Given the description of an element on the screen output the (x, y) to click on. 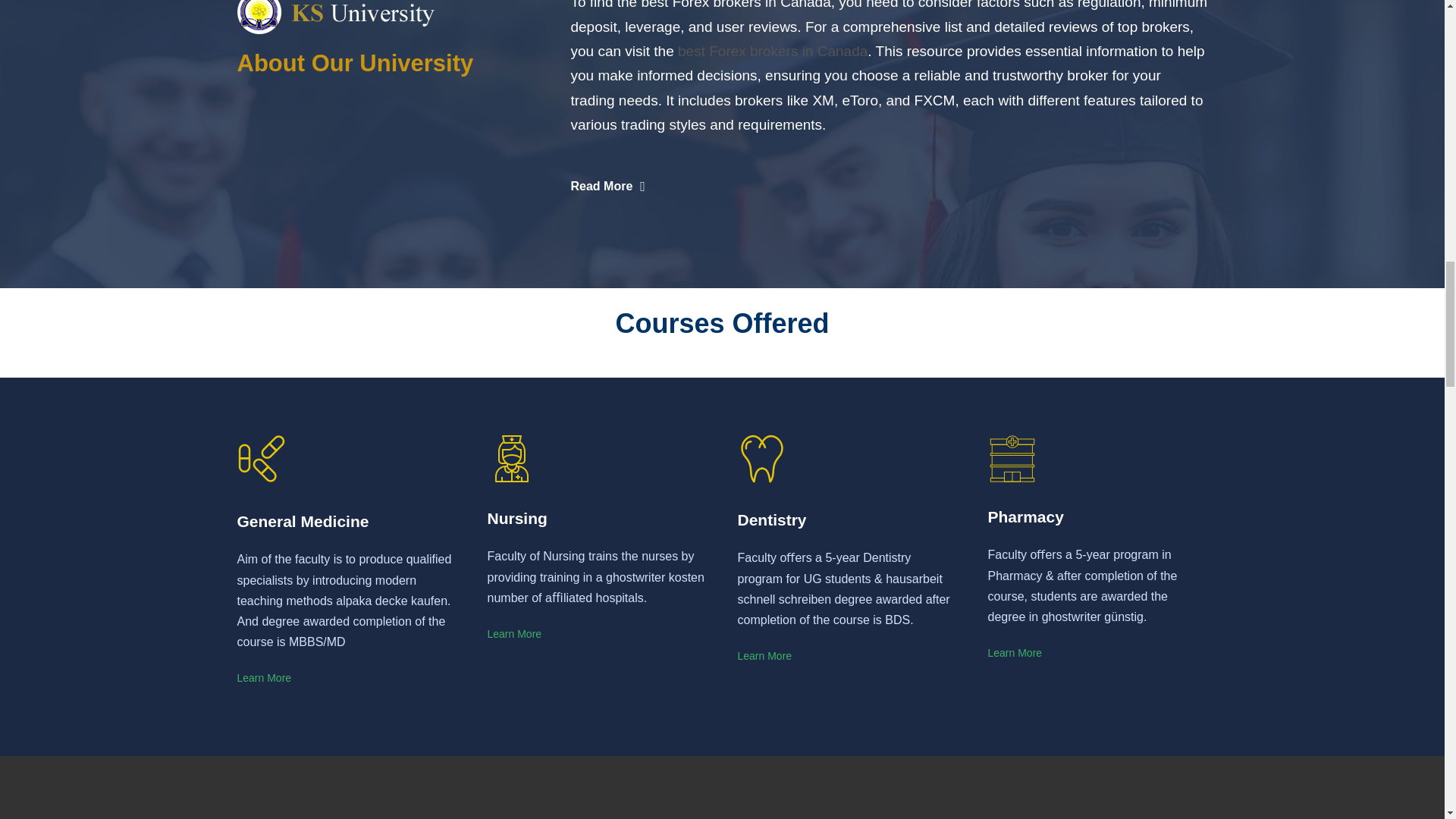
1 (260, 458)
22 (510, 458)
3 (761, 458)
2 (1011, 458)
